Given the description of an element on the screen output the (x, y) to click on. 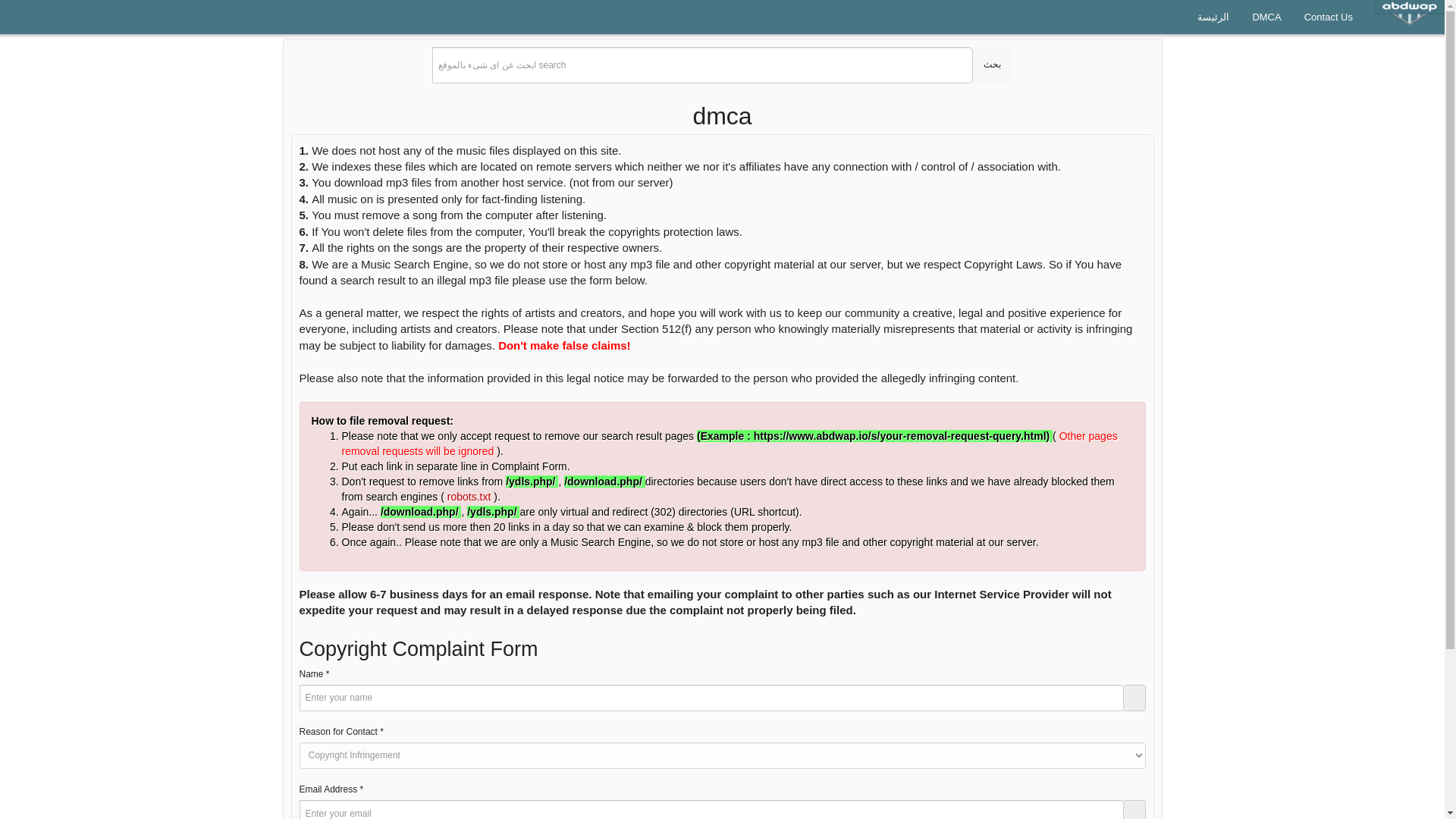
DMCA (1266, 17)
Contact Us (1328, 17)
robots.txt (469, 496)
